Given the description of an element on the screen output the (x, y) to click on. 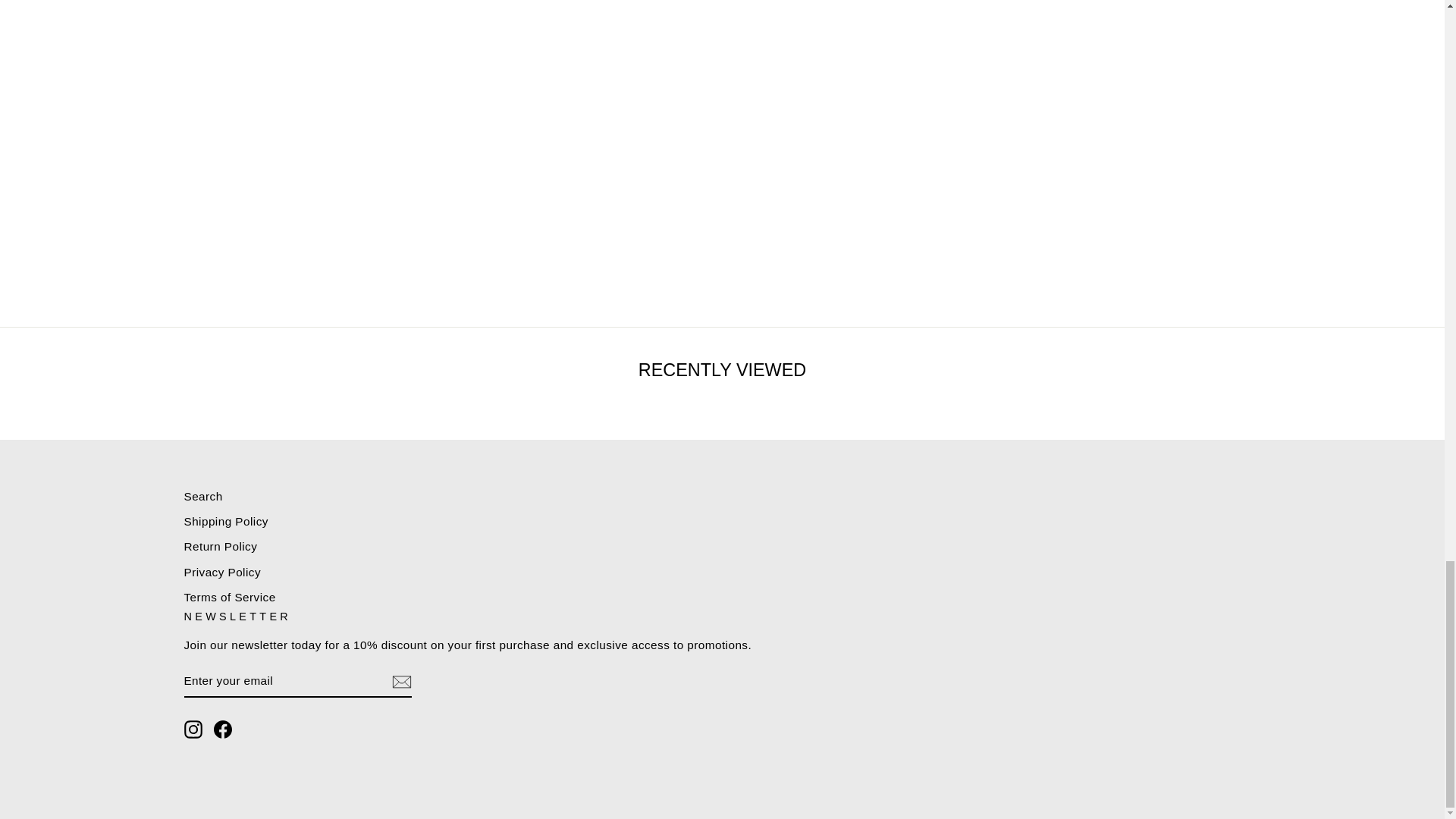
Jessie Zhao New York on Instagram (192, 729)
instagram (192, 729)
icon-email (400, 681)
Jessie Zhao New York on Facebook (222, 729)
